Given the description of an element on the screen output the (x, y) to click on. 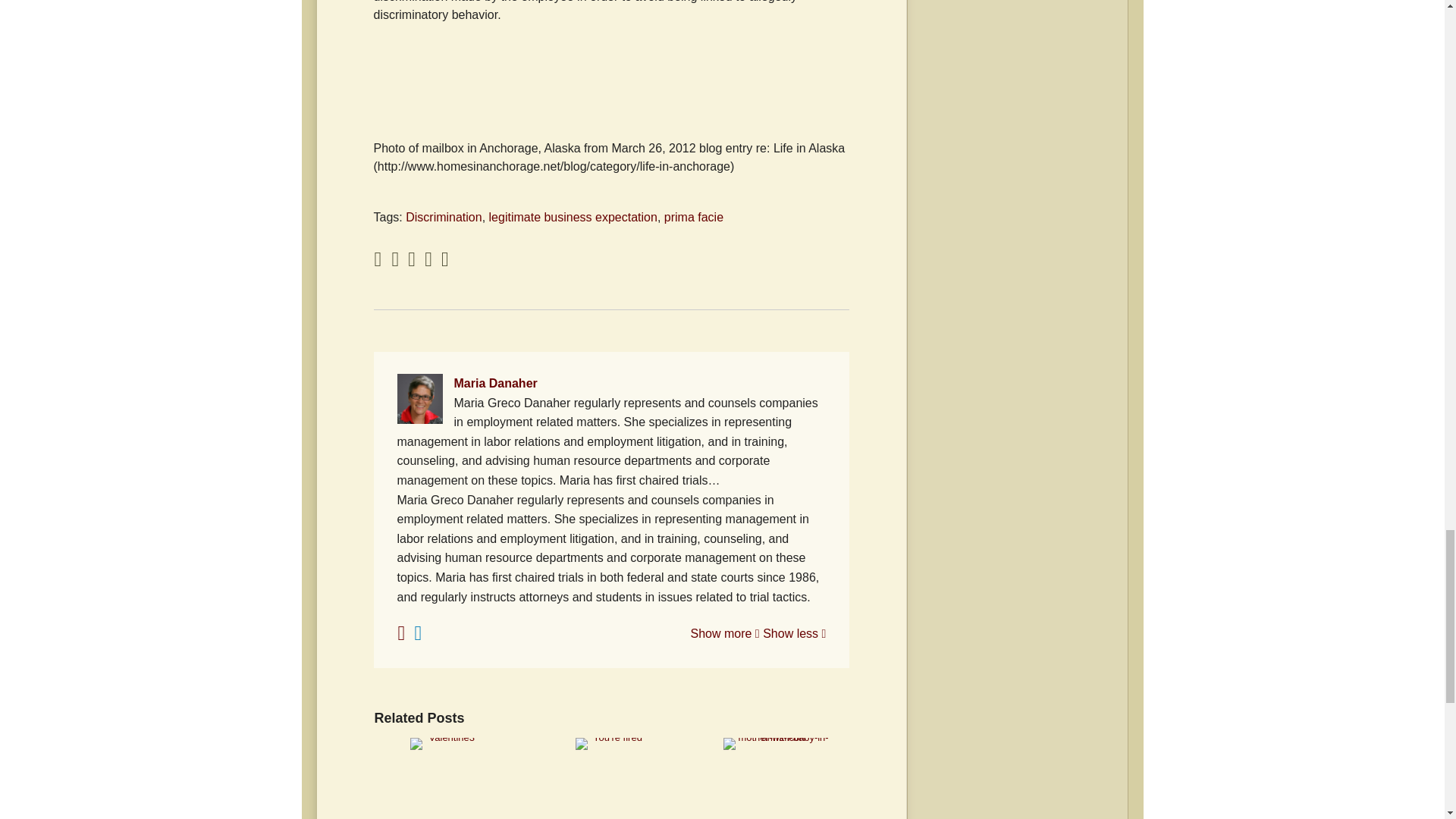
Show less (793, 633)
prima facie (693, 216)
Maria Danaher (612, 383)
legitimate business expectation (573, 216)
Show more (724, 633)
Discrimination (443, 216)
